Given the description of an element on the screen output the (x, y) to click on. 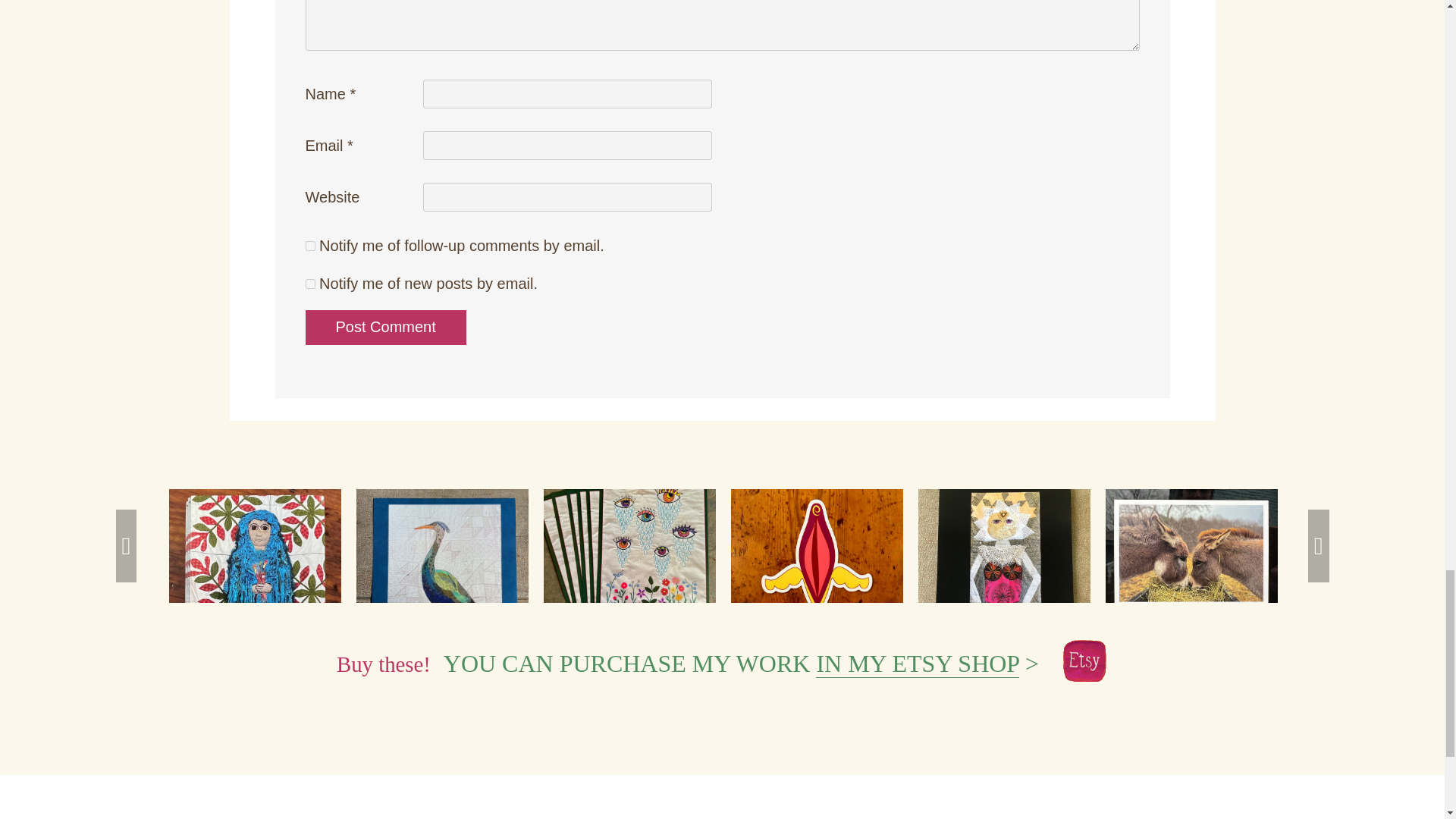
subscribe (309, 245)
Post Comment (384, 327)
Post Comment (384, 327)
subscribe (309, 284)
